Given the description of an element on the screen output the (x, y) to click on. 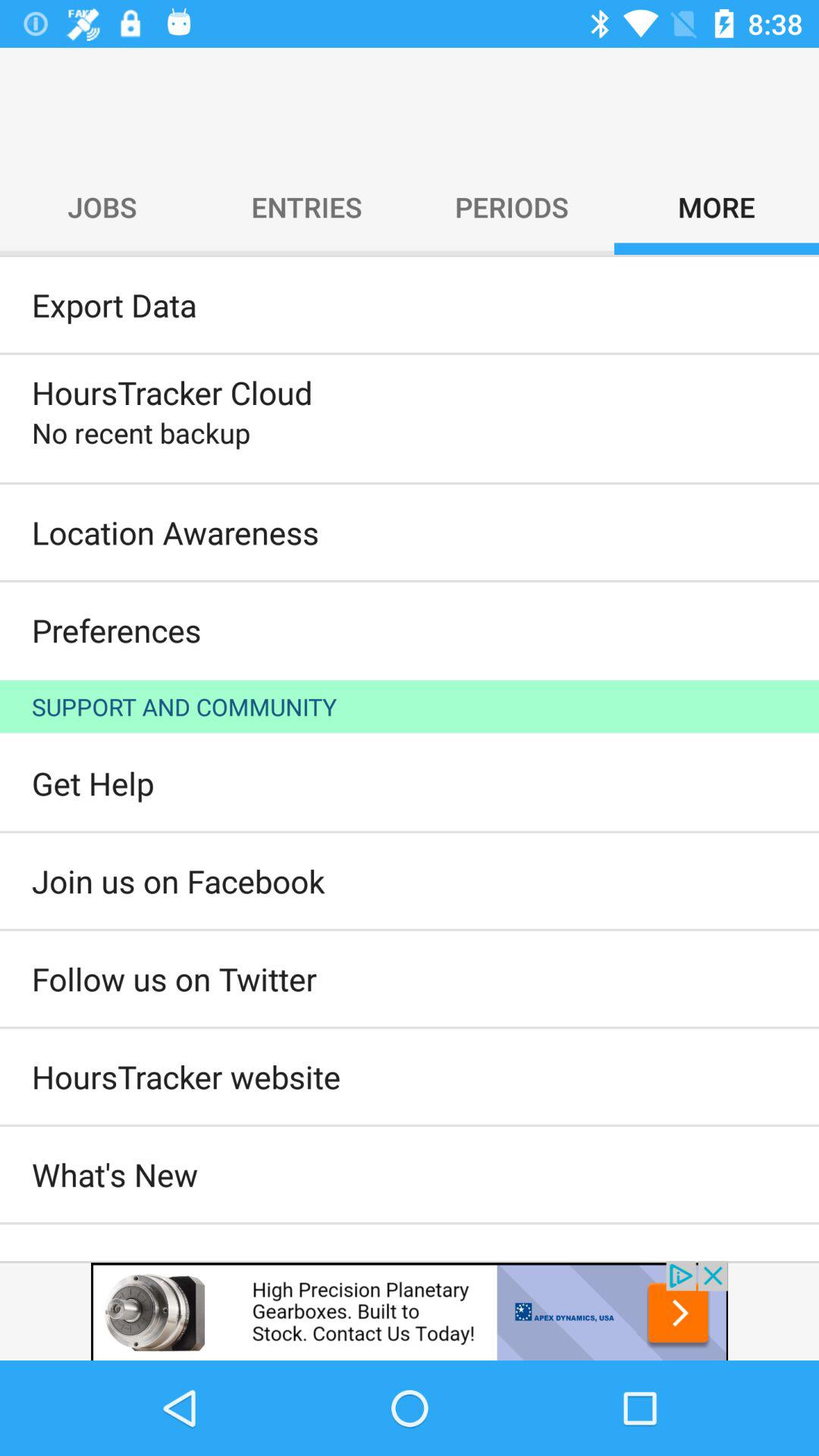
click advertisement (409, 1310)
